Given the description of an element on the screen output the (x, y) to click on. 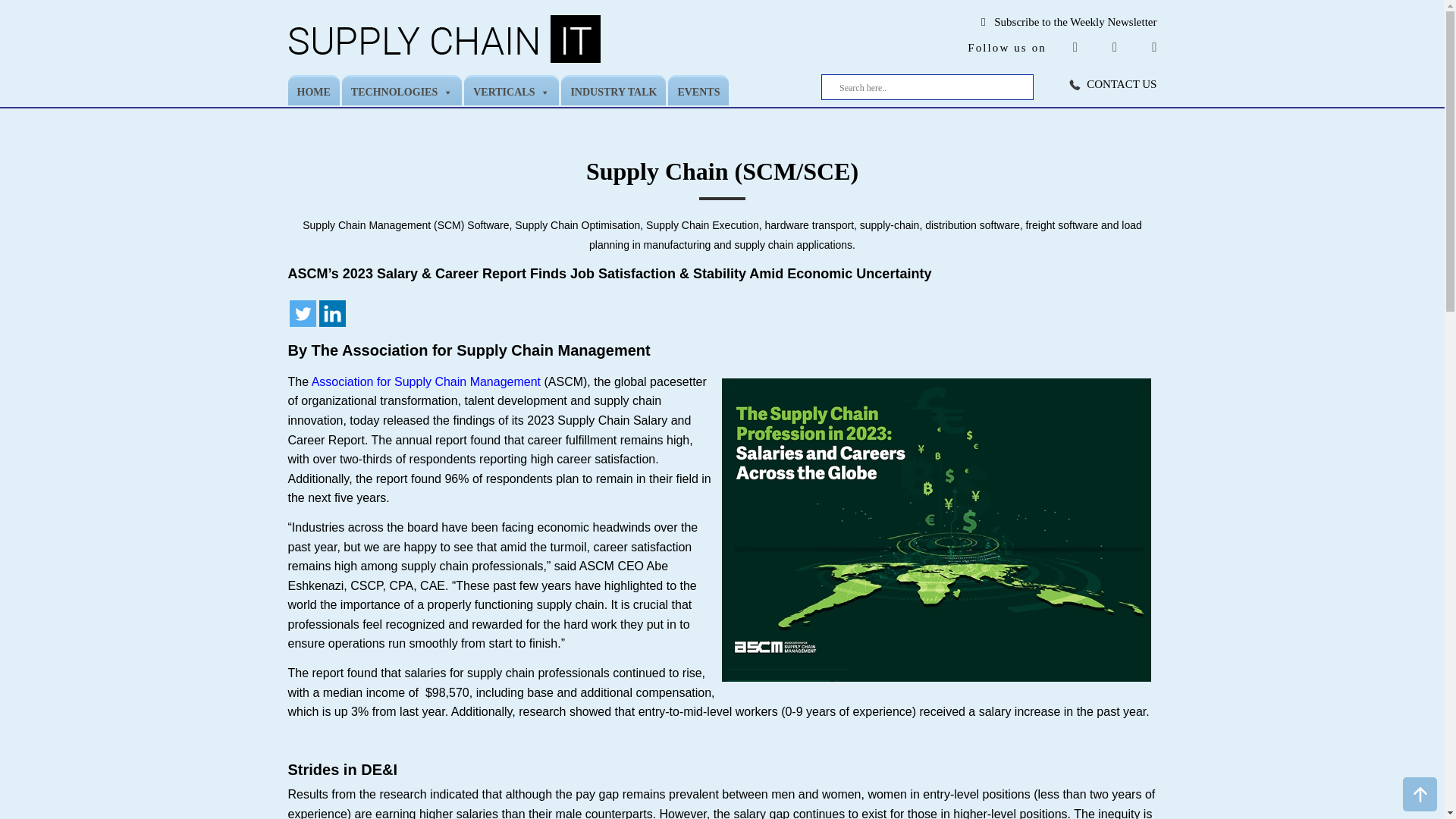
TECHNOLOGIES (401, 90)
CONTACT US (1121, 83)
Subscribe to the Weekly Newsletter (1075, 21)
EVENTS (698, 90)
INDUSTRY TALK (612, 90)
HOME (313, 90)
Linkedin (331, 313)
Twitter (302, 313)
VERTICALS (511, 90)
